Given the description of an element on the screen output the (x, y) to click on. 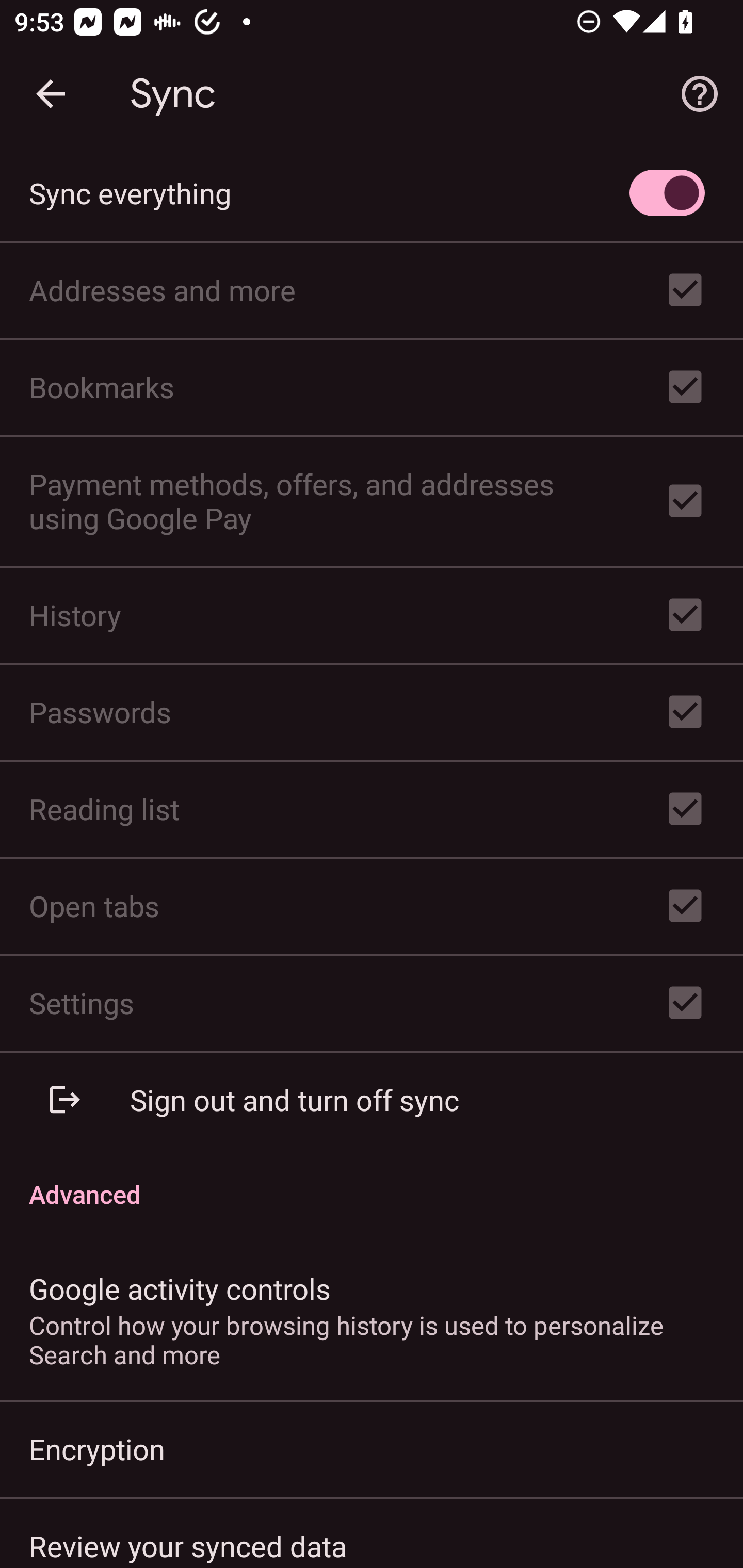
Navigate up (50, 93)
Help & feedback (699, 93)
Sync everything (371, 192)
Addresses and more (371, 289)
Bookmarks (371, 386)
History (371, 614)
Passwords (371, 711)
Reading list (371, 808)
Open tabs (371, 905)
Settings (371, 1002)
Sign out and turn off sync (371, 1098)
Encryption (371, 1448)
Review your synced data (371, 1532)
